Given the description of an element on the screen output the (x, y) to click on. 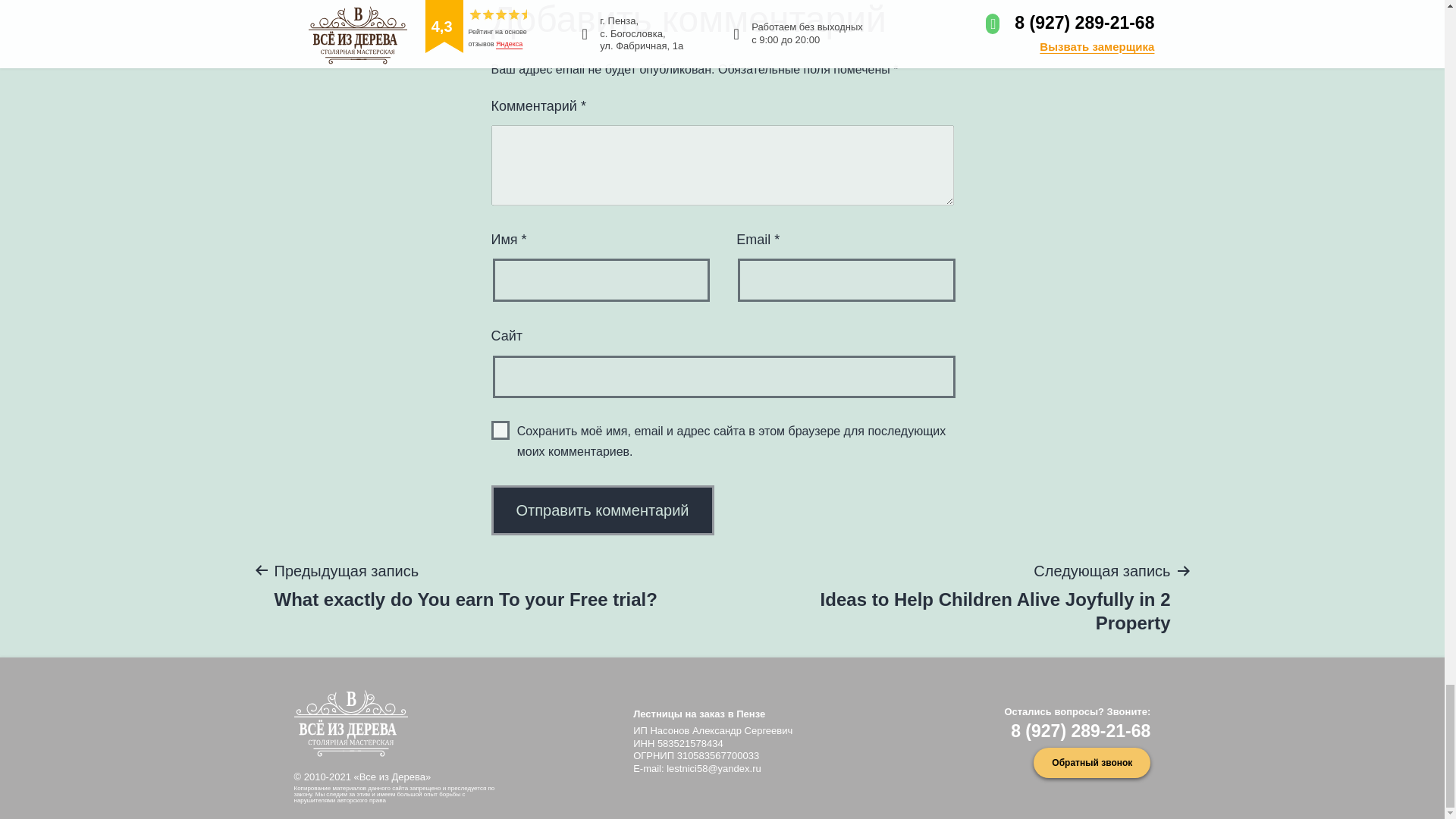
yes (500, 429)
